Given the description of an element on the screen output the (x, y) to click on. 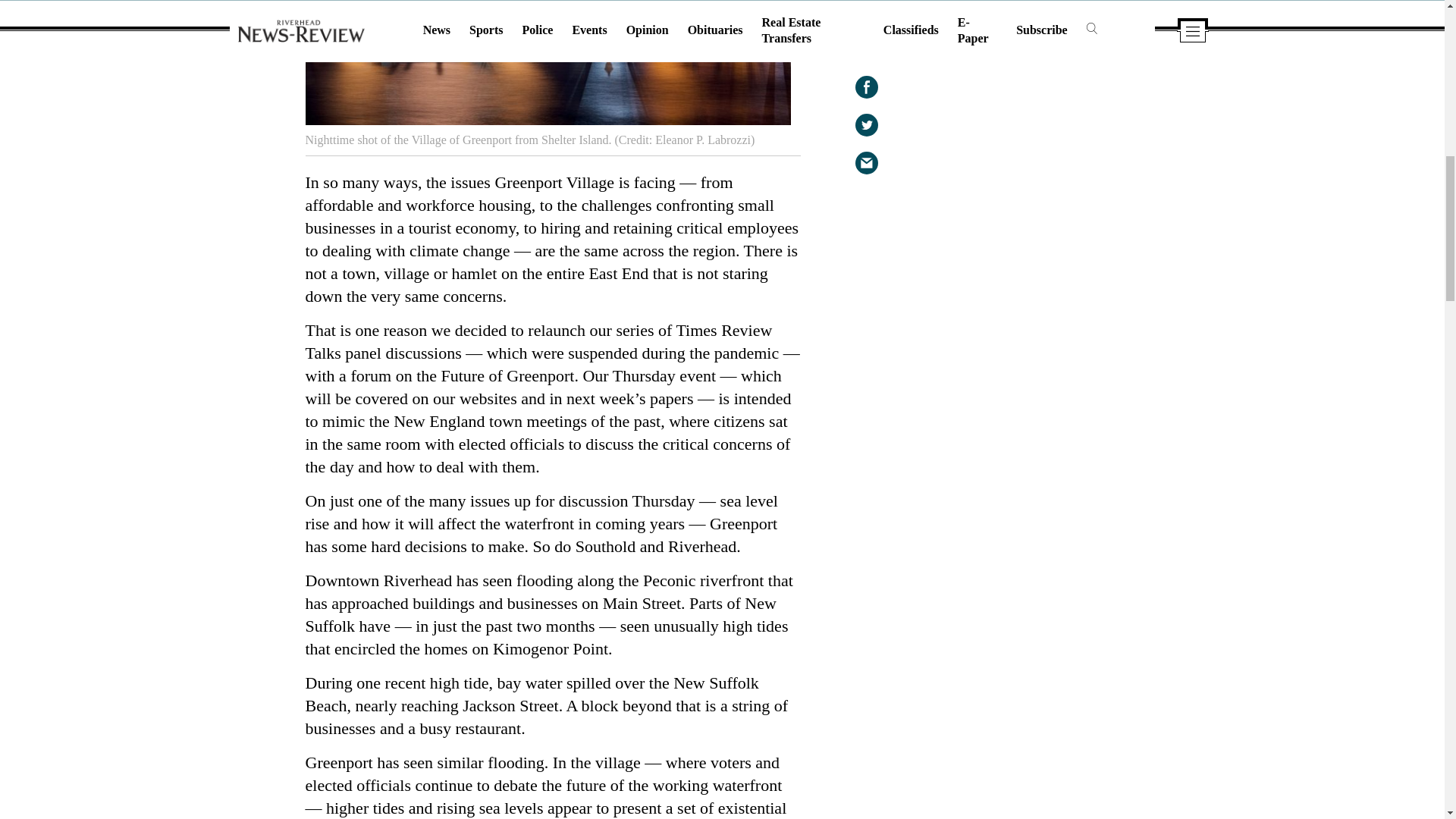
3rd party ad content (1024, 510)
3rd party ad content (1024, 312)
3rd party ad content (1024, 105)
